Given the description of an element on the screen output the (x, y) to click on. 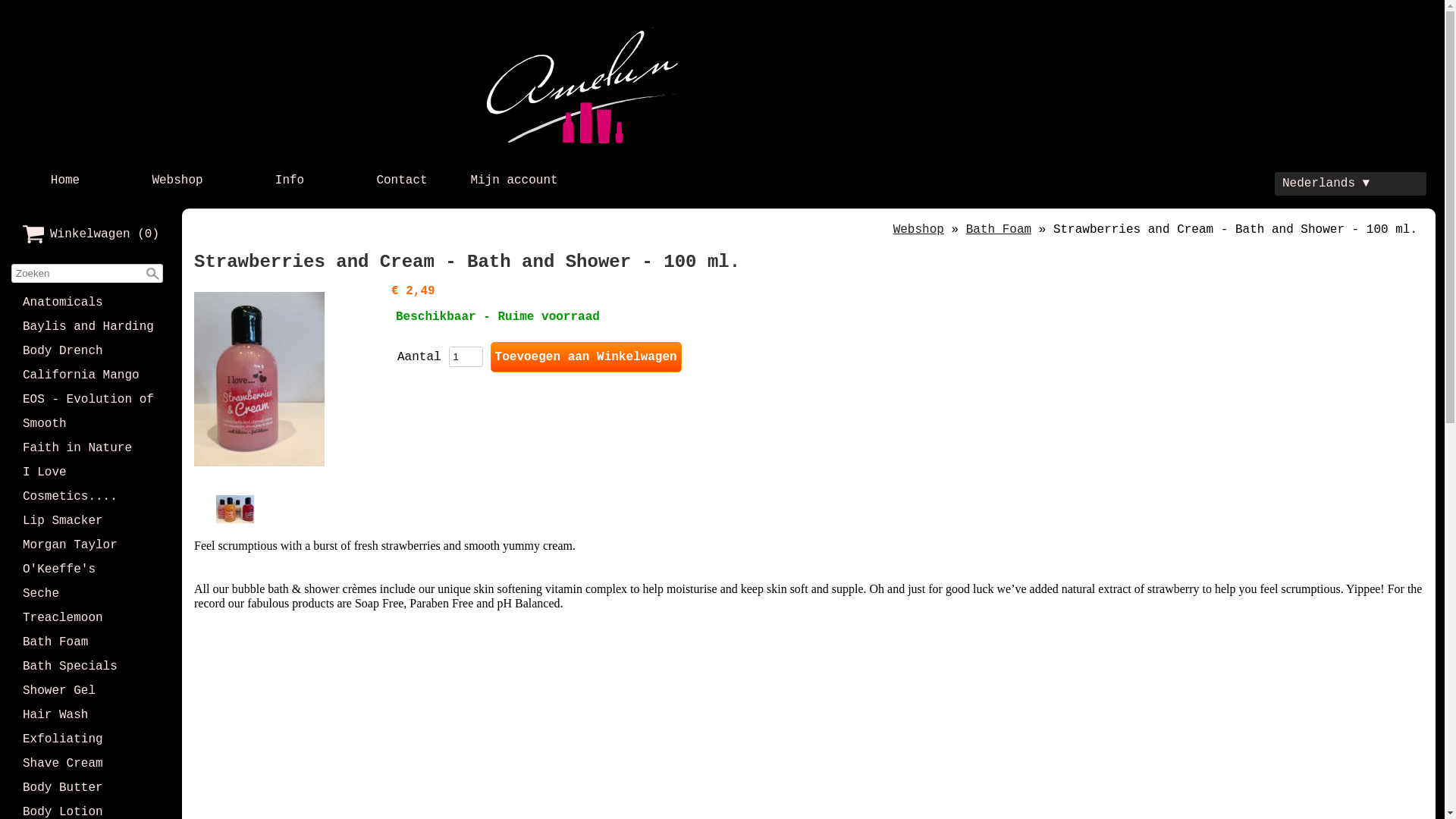
Body Drench Element type: text (90, 350)
Exfoliating Element type: text (90, 739)
Webshop Element type: text (177, 180)
Morgan Taylor Element type: text (90, 545)
Body Butter Element type: text (90, 787)
California Mango Element type: text (90, 375)
Webshop Element type: text (918, 229)
Baylis and Harding Element type: text (90, 326)
Hair Wash Element type: text (90, 714)
Contact Element type: text (401, 180)
Home Element type: text (64, 180)
WinkelwagenWinkelwagen (0) Element type: text (90, 233)
Mijn account Element type: text (513, 180)
Toevoegen aan Winkelwagen Element type: text (585, 357)
Shower Gel Element type: text (90, 690)
Seche Element type: text (90, 593)
I Love Cosmetics.... Element type: text (90, 484)
Bath Specials Element type: text (90, 666)
Treaclemoon Element type: text (90, 617)
Anatomicals Element type: text (90, 302)
Bath Foam Element type: text (90, 642)
O'Keeffe's Element type: text (90, 569)
EOS - Evolution of Smooth Element type: text (90, 411)
Lip Smacker Element type: text (90, 520)
Info Element type: text (289, 180)
Faith in Nature Element type: text (90, 448)
Bath Foam Element type: text (998, 229)
Shave Cream Element type: text (90, 763)
